Given the description of an element on the screen output the (x, y) to click on. 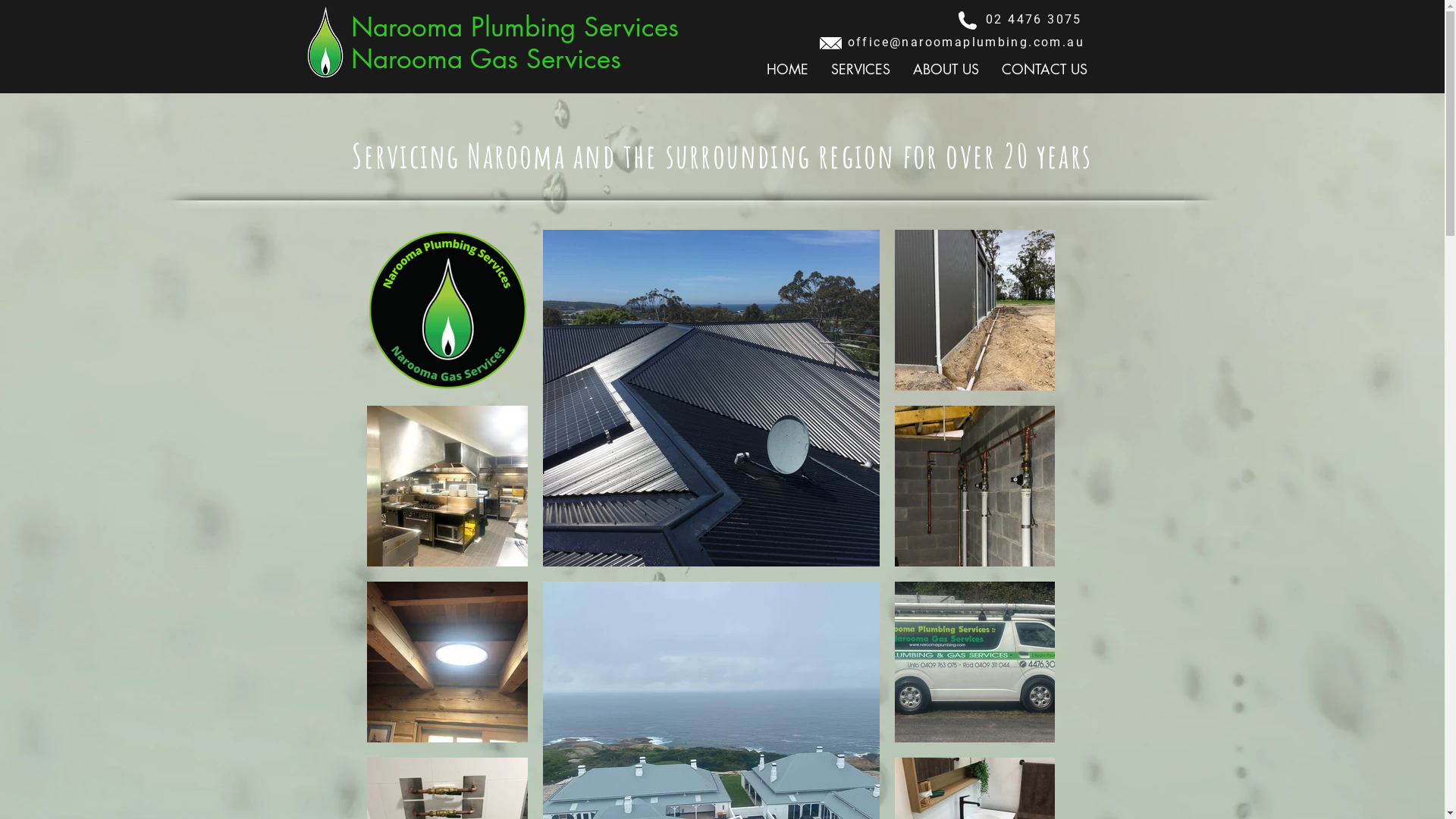
CONTACT US Element type: text (1044, 69)
HOME Element type: text (787, 69)
 02 4476 3075  Element type: text (1034, 19)
office@naroomaplumbing.com.au Element type: text (966, 41)
ABOUT US Element type: text (944, 69)
SERVICES Element type: text (859, 69)
